Given the description of an element on the screen output the (x, y) to click on. 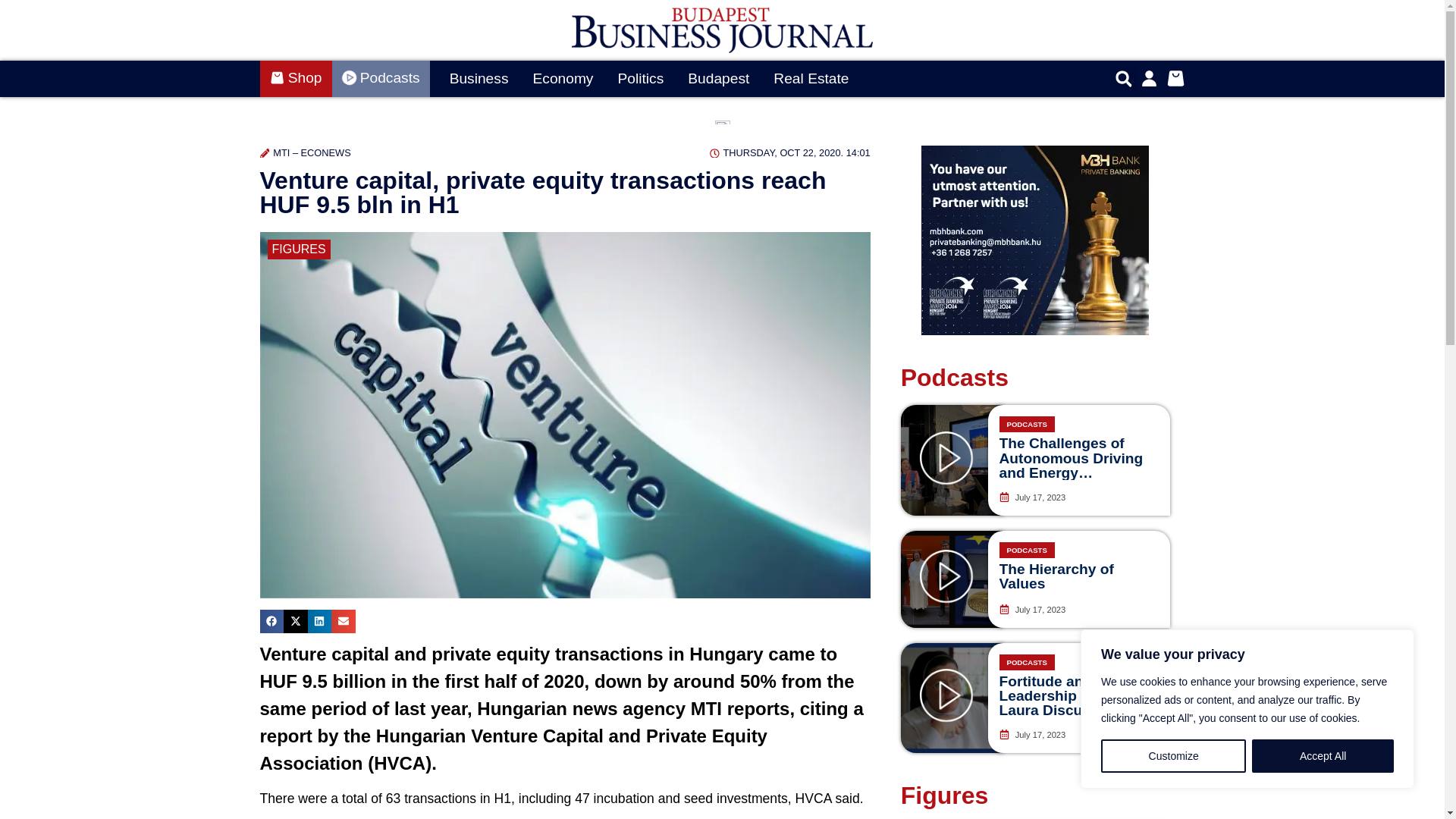
Shop (295, 78)
Real Estate (810, 78)
Customize (1173, 756)
THURSDAY, OCT 22, 2020. 14:01 (790, 152)
Budapest (718, 78)
Economy (562, 78)
FIGURES (298, 249)
Politics (640, 78)
Podcasts (380, 78)
Accept All (1322, 756)
Business (478, 78)
